Given the description of an element on the screen output the (x, y) to click on. 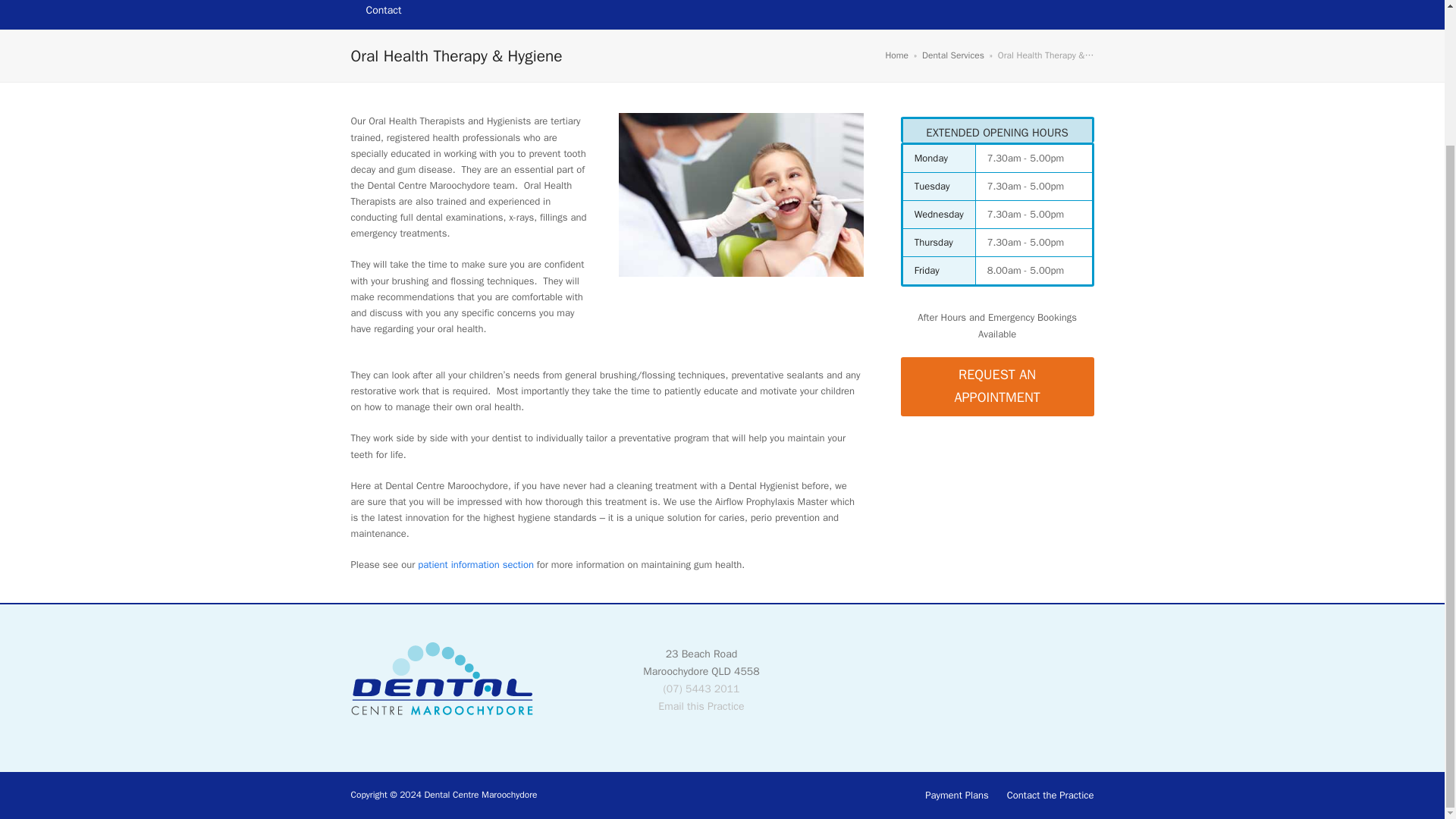
REQUEST AN APPOINTMENT (997, 386)
Dental Centre Maroochydore - Oral Health (740, 194)
Home (896, 55)
Request an Appointment (997, 386)
Contact (383, 14)
Dental Services (952, 55)
patient information section (475, 563)
